Given the description of an element on the screen output the (x, y) to click on. 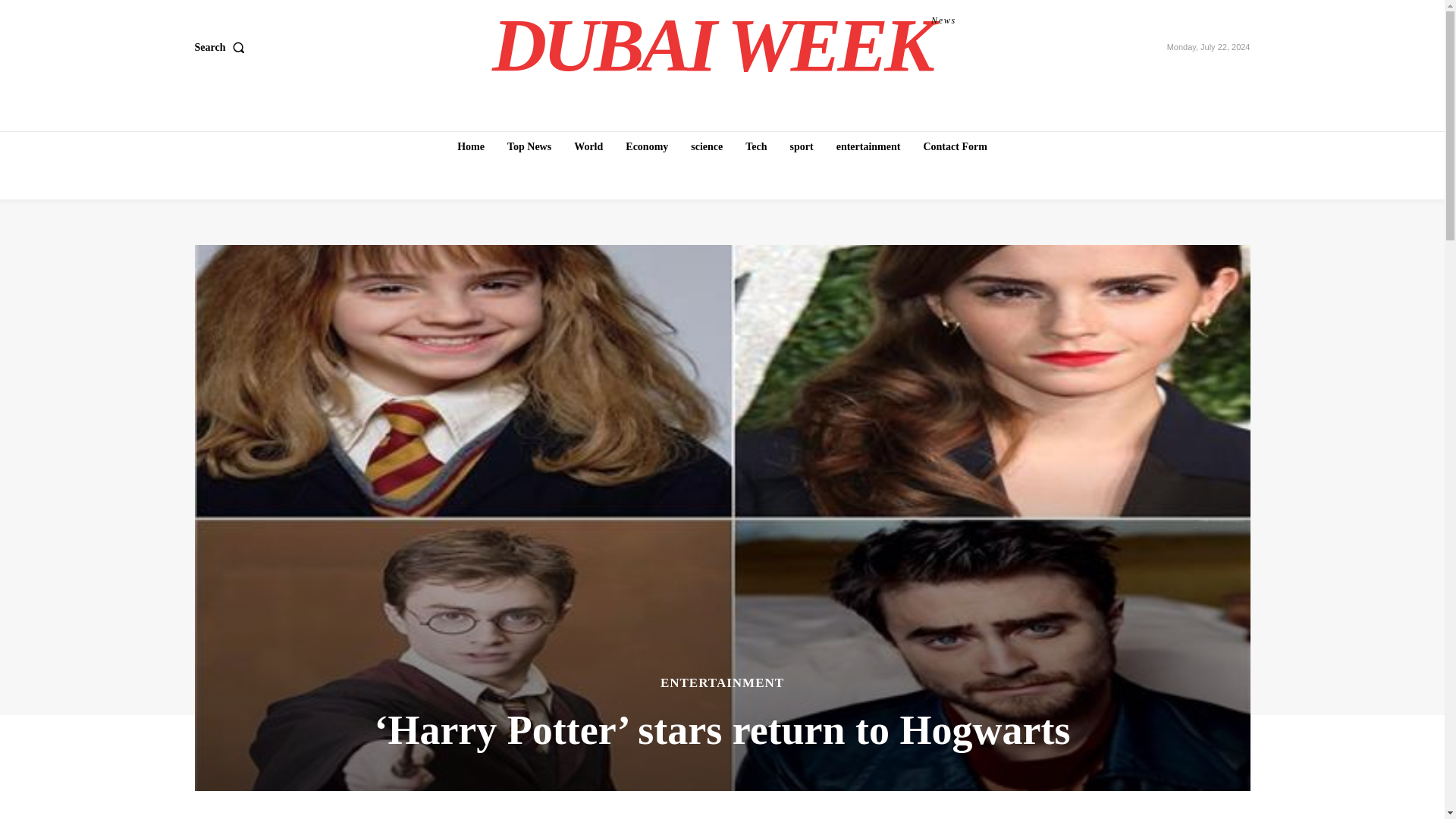
entertainment (724, 45)
Top News (868, 146)
World (529, 146)
Economy (588, 146)
sport (646, 146)
Home (802, 146)
Search (470, 146)
Contact Form (221, 47)
Tech (954, 146)
science (756, 146)
